Given the description of an element on the screen output the (x, y) to click on. 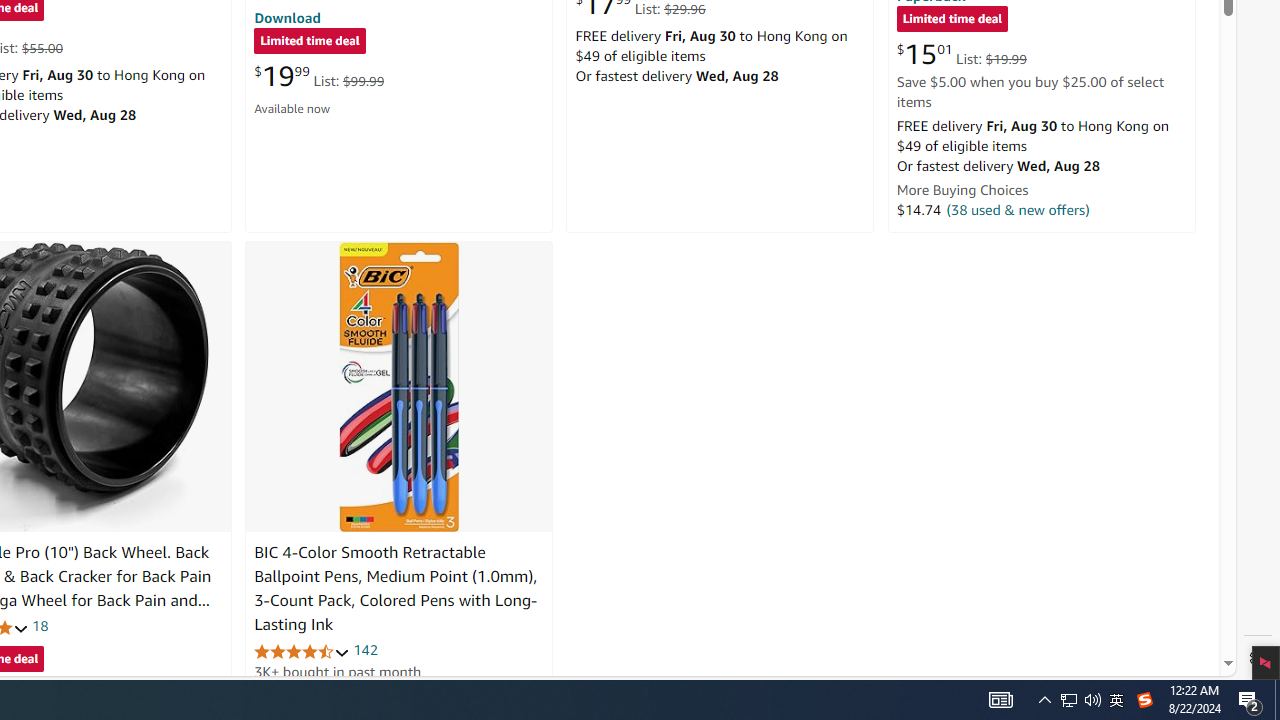
18 (40, 625)
$15.01 List: $19.99 (961, 54)
Limited time deal (952, 20)
142 (365, 650)
4.6 out of 5 stars (301, 650)
$19.99 List: $99.99 (319, 76)
(38 used & new offers) (1017, 209)
Download (287, 17)
